Given the description of an element on the screen output the (x, y) to click on. 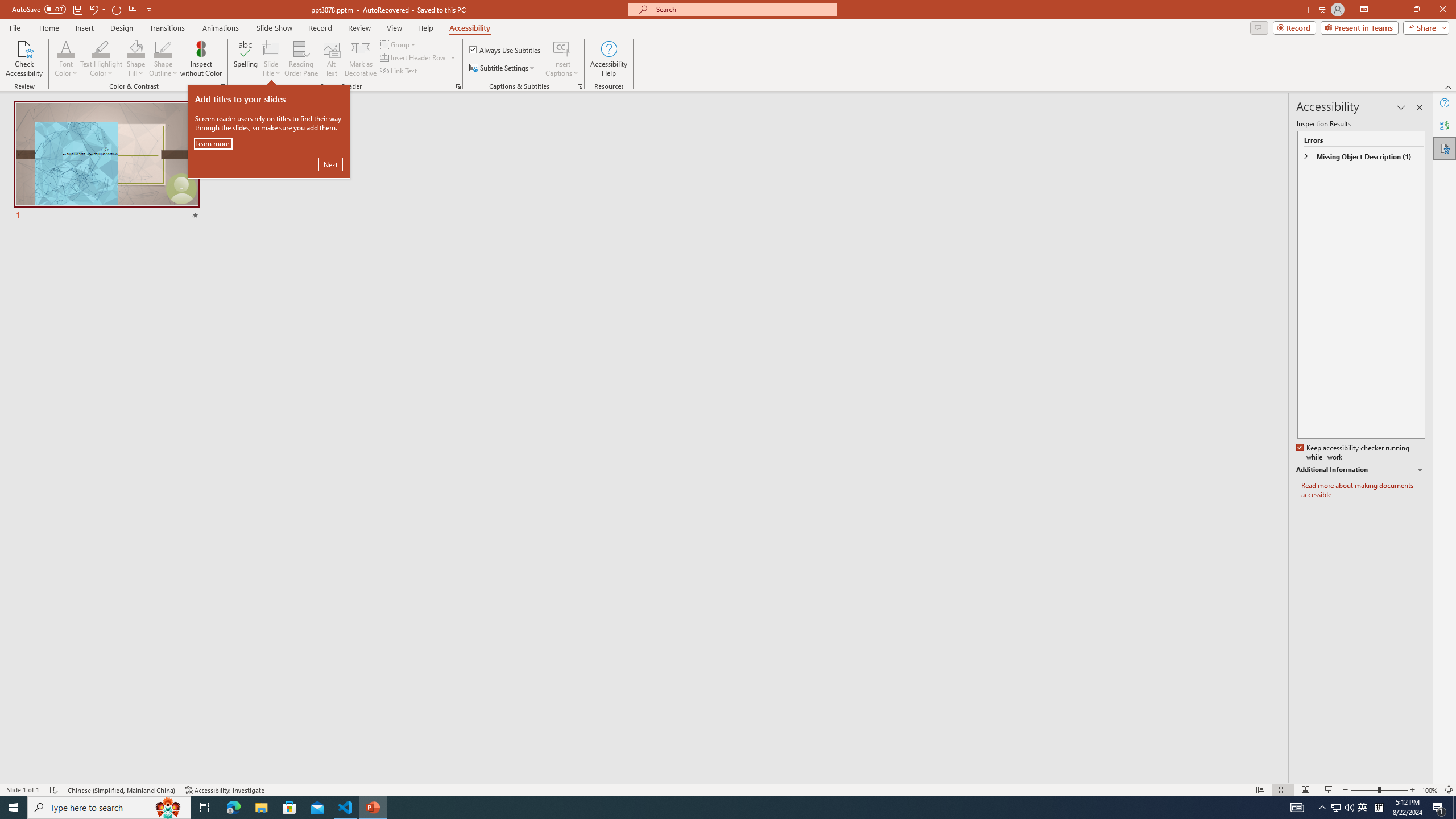
Accessibility Help (608, 58)
Link Text (399, 69)
